Given the description of an element on the screen output the (x, y) to click on. 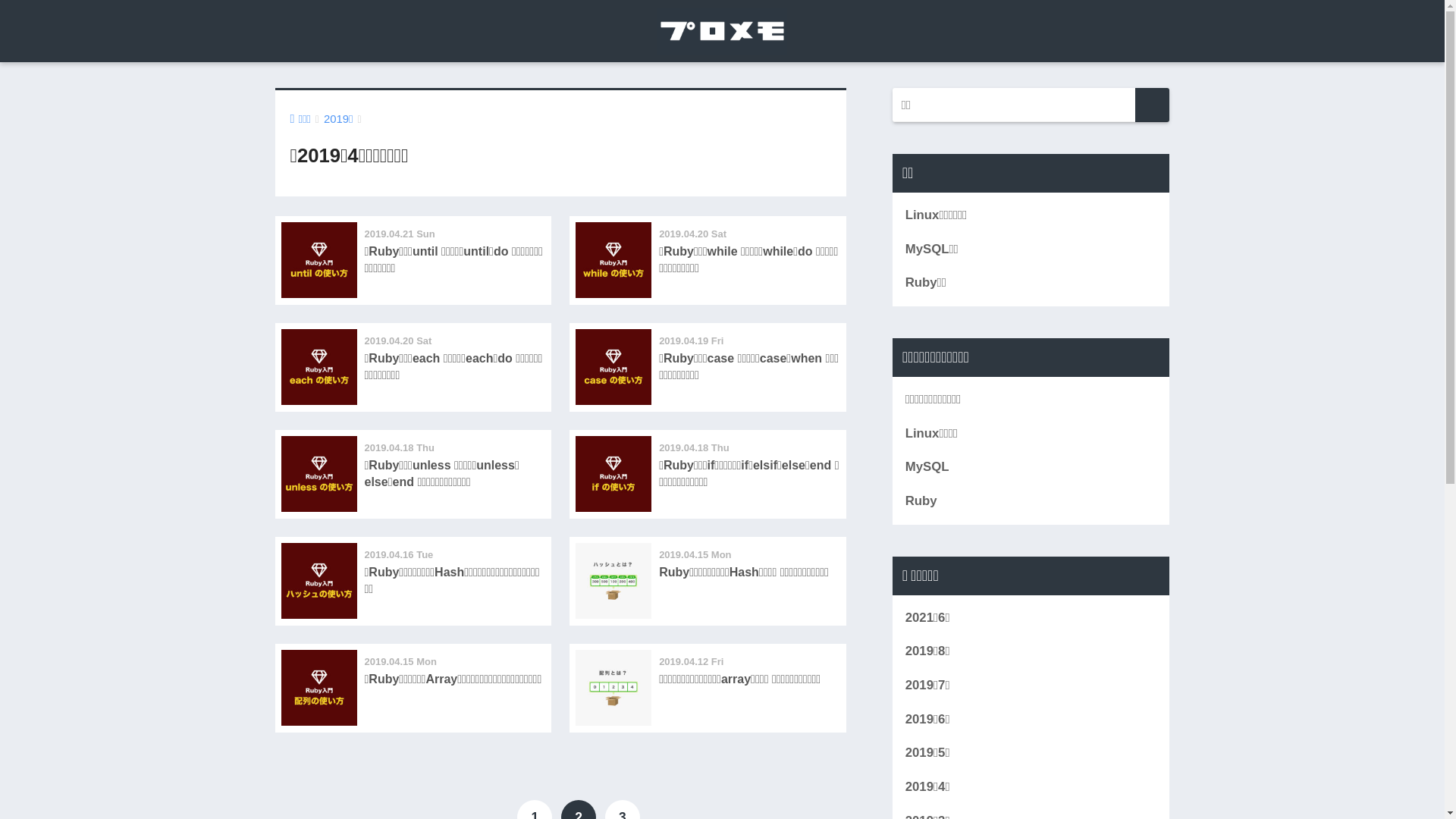
Ruby Element type: text (1031, 501)
on Element type: text (4, 4)
MySQL Element type: text (1031, 467)
